Given the description of an element on the screen output the (x, y) to click on. 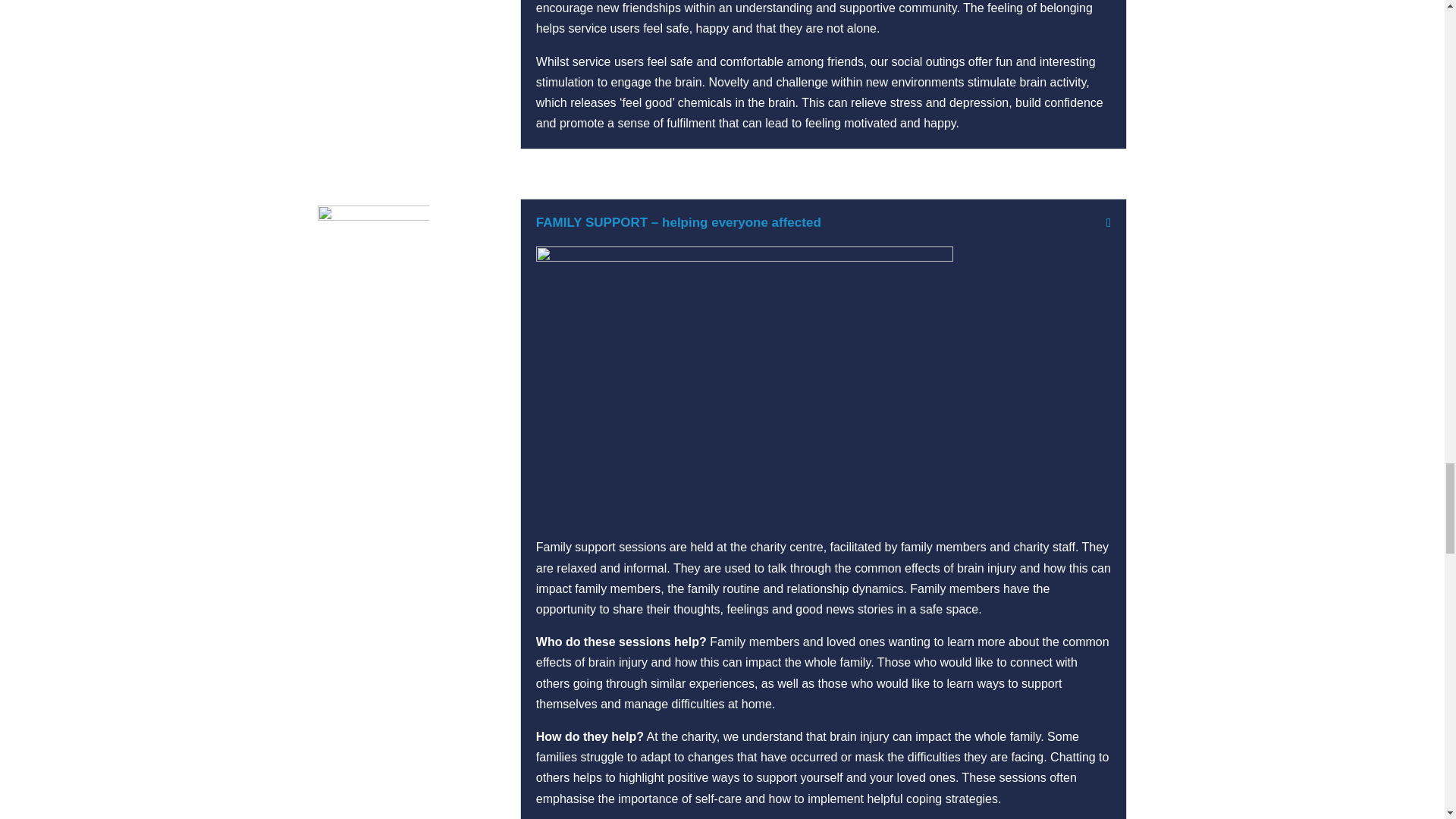
FAMILY-SUPPORT-ICONnew (373, 260)
